Given the description of an element on the screen output the (x, y) to click on. 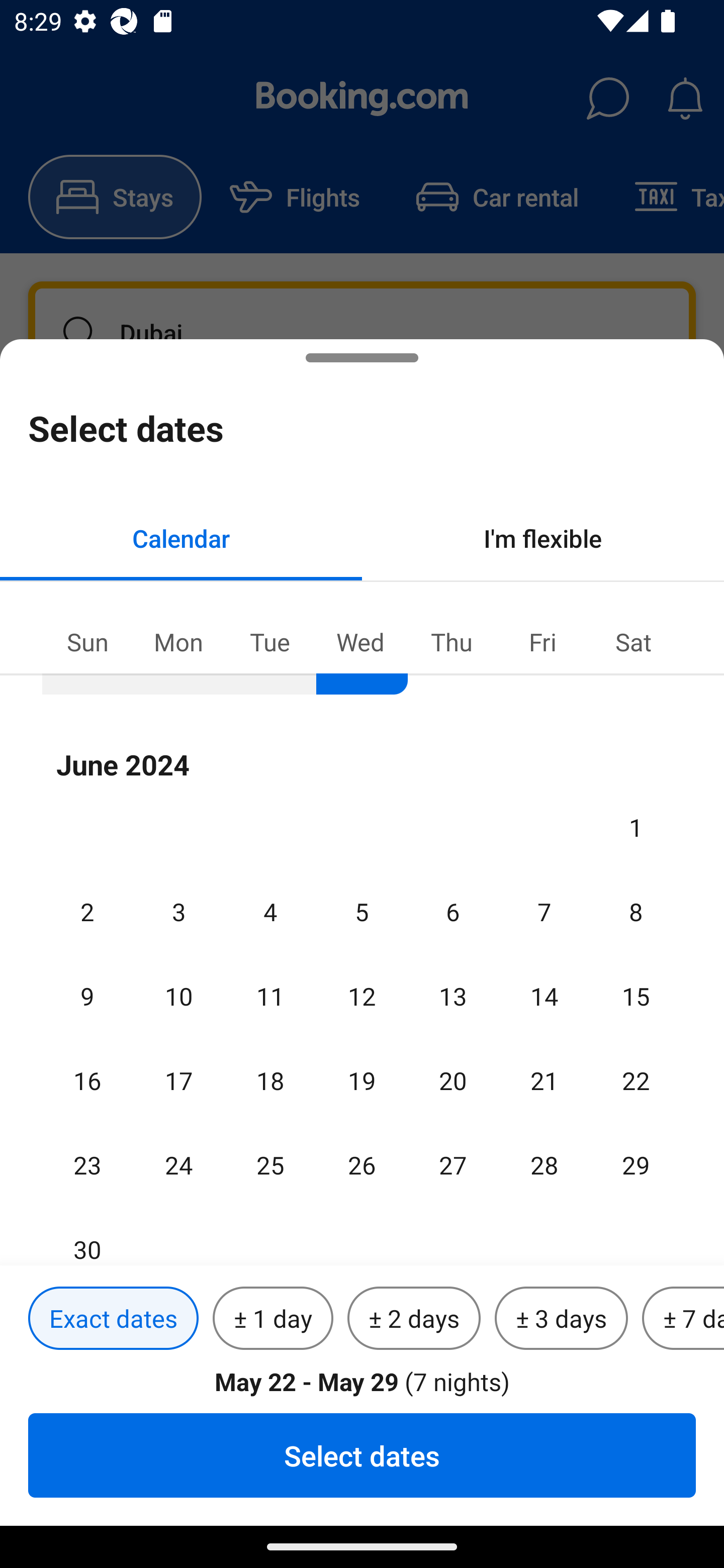
I'm flexible (543, 537)
Exact dates (113, 1318)
± 1 day (272, 1318)
± 2 days (413, 1318)
± 3 days (560, 1318)
± 7 days (683, 1318)
Select dates (361, 1454)
